Given the description of an element on the screen output the (x, y) to click on. 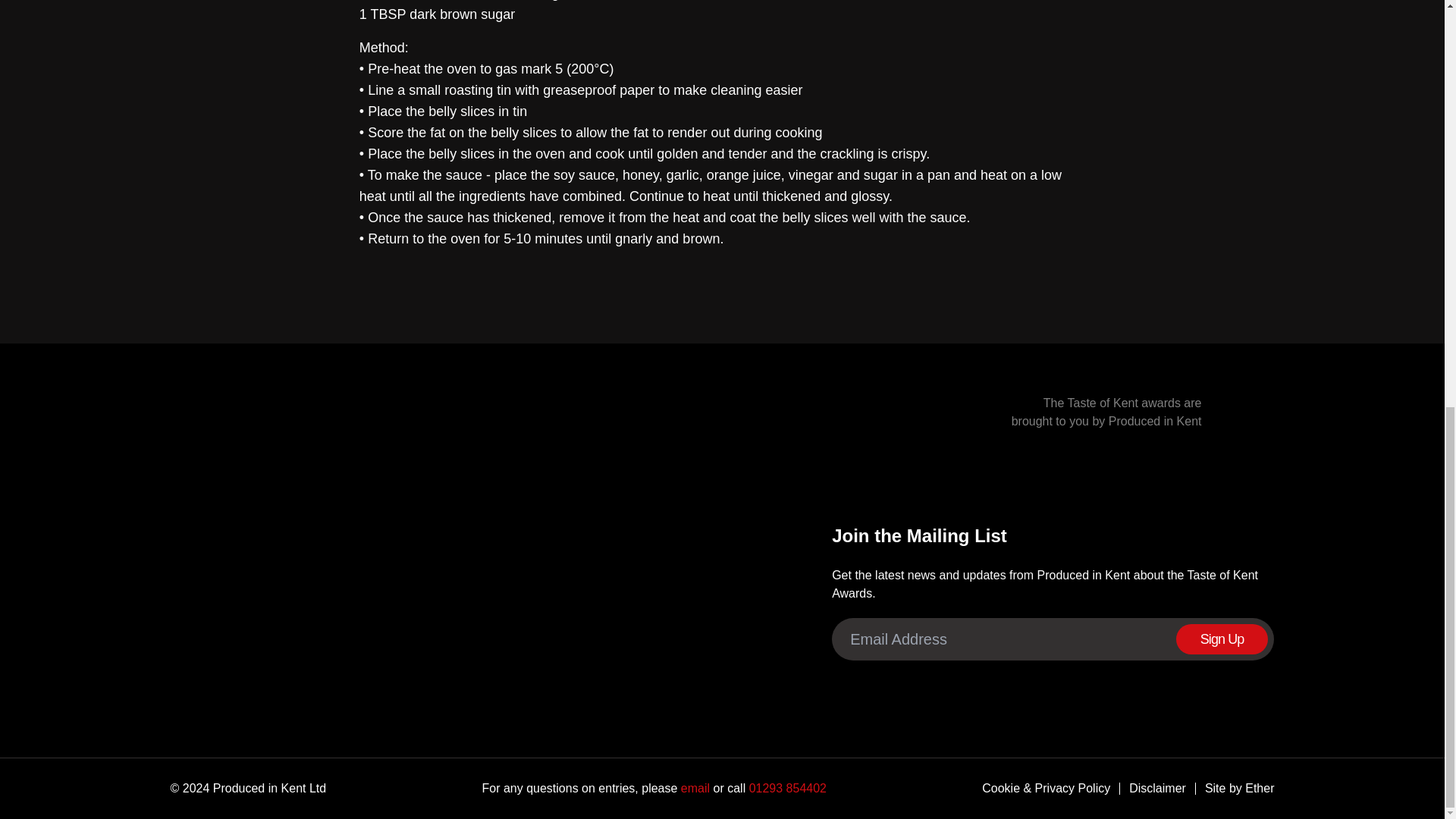
Disclaimer (1152, 788)
01293 854402 (786, 788)
Site by Ether (1235, 788)
email (693, 788)
Sign Up (1222, 639)
